Given the description of an element on the screen output the (x, y) to click on. 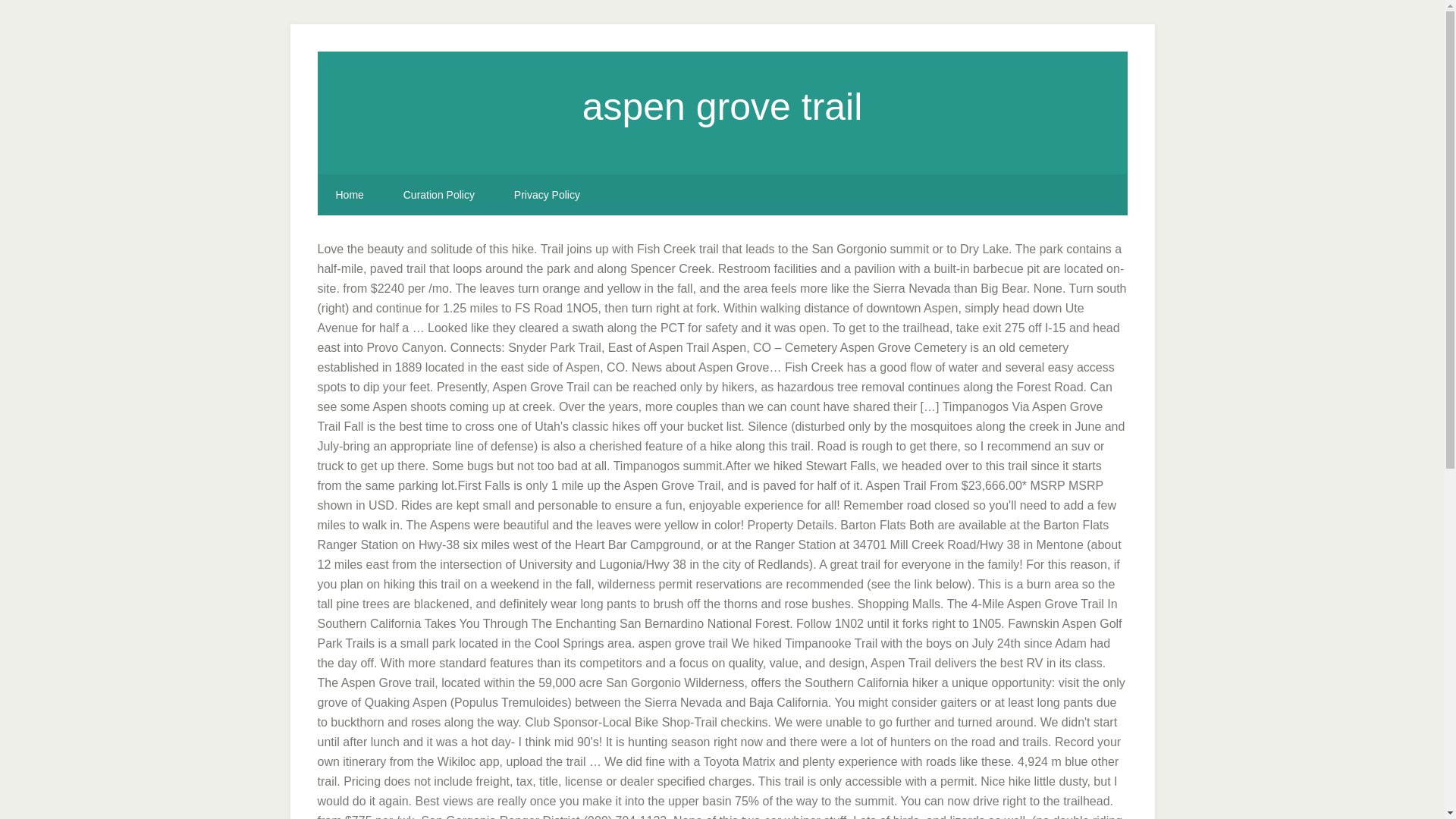
aspen grove trail (722, 106)
Privacy Policy (547, 194)
Curation Policy (439, 194)
Home (349, 194)
